Given the description of an element on the screen output the (x, y) to click on. 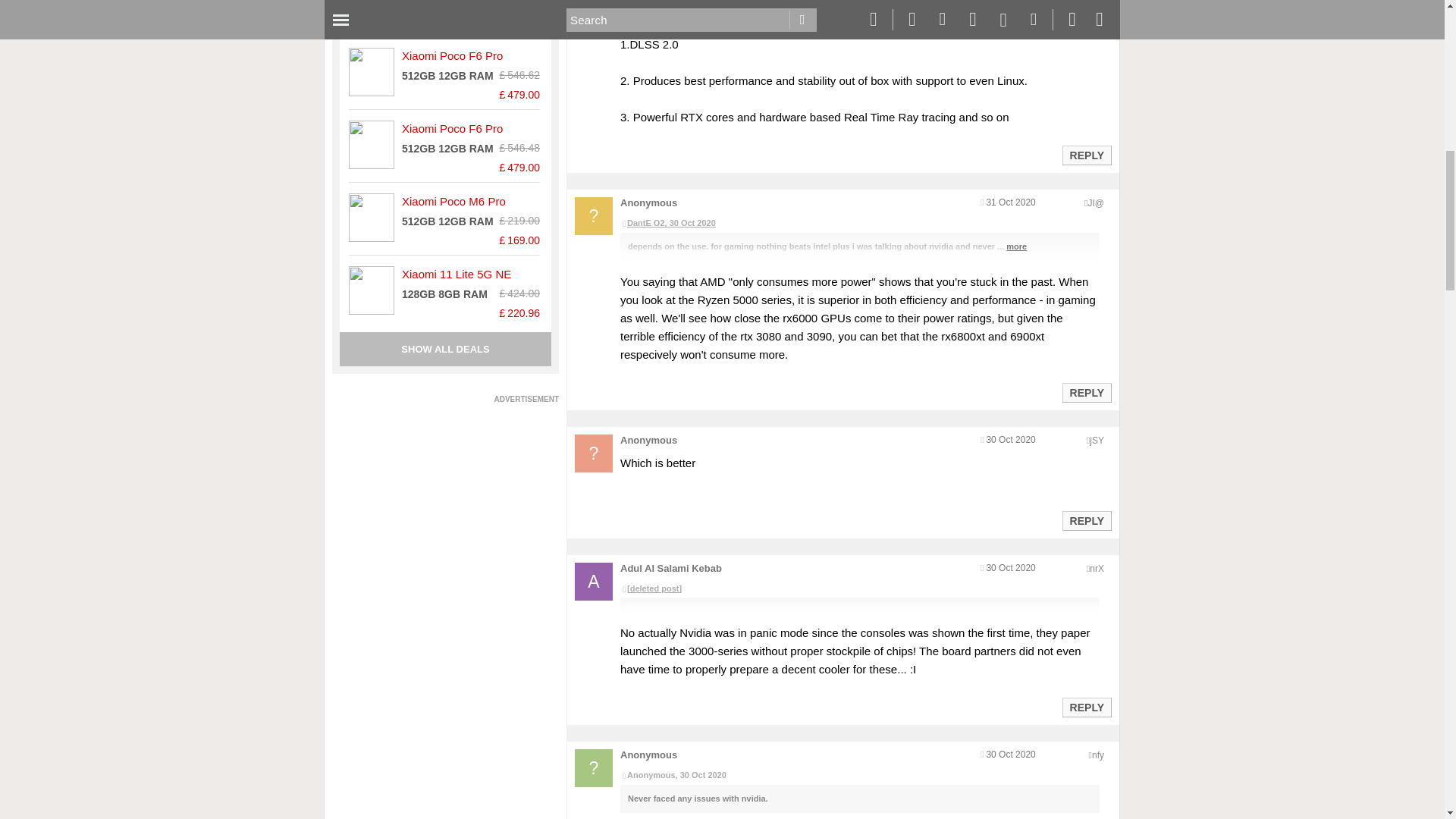
Reply to this post (1086, 155)
DantE O2, 30 Oct 2020 (859, 223)
REPLY (1086, 155)
Reply to this post (1086, 707)
more (1016, 245)
Encoded anonymized location (1097, 755)
Reply to this post (1086, 521)
Encoded anonymized location (1096, 568)
Encoded anonymized location (1095, 203)
Reply to this post (1086, 392)
Encoded anonymized location (1096, 439)
